Given the description of an element on the screen output the (x, y) to click on. 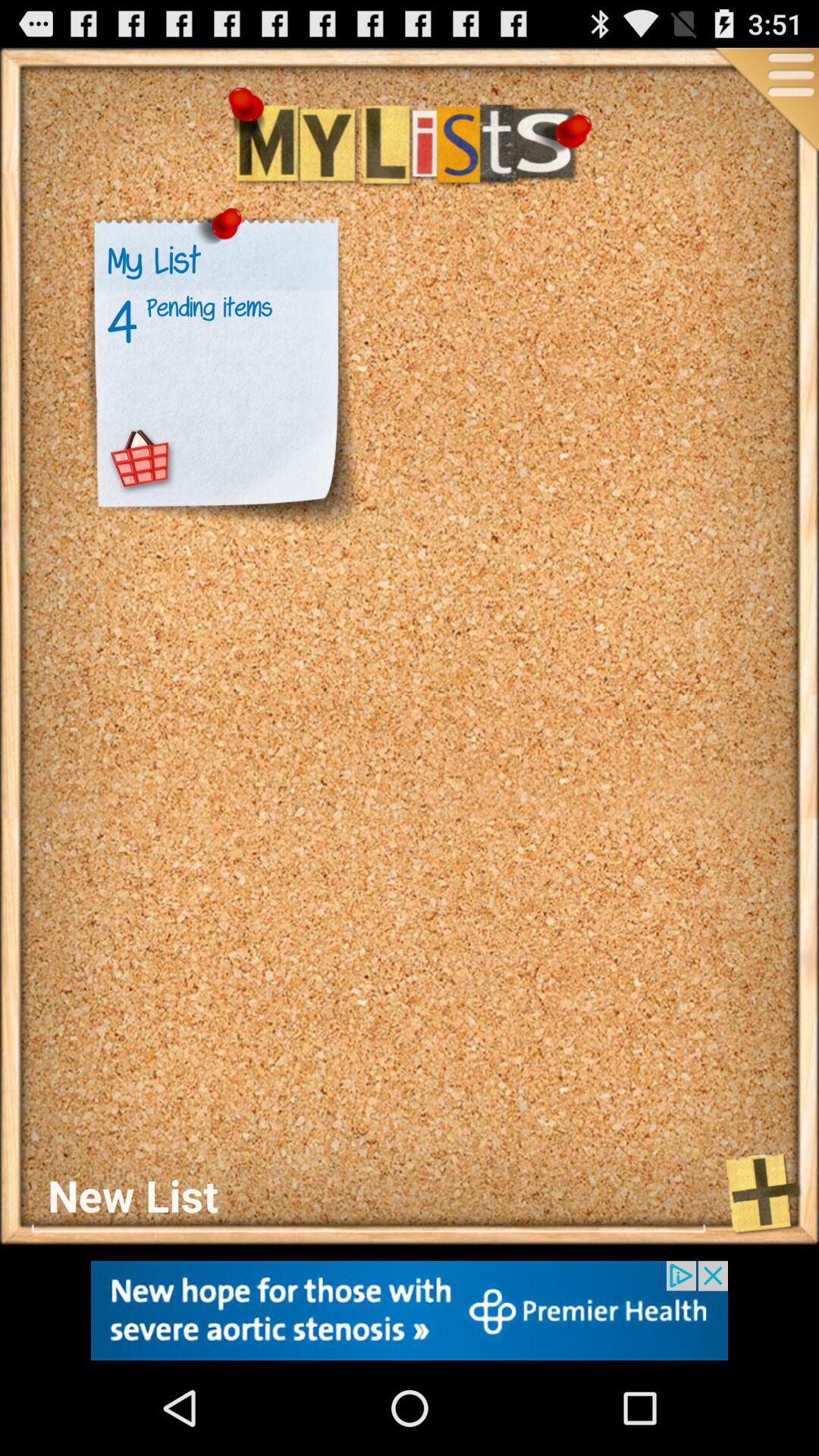
more options (765, 101)
